Given the description of an element on the screen output the (x, y) to click on. 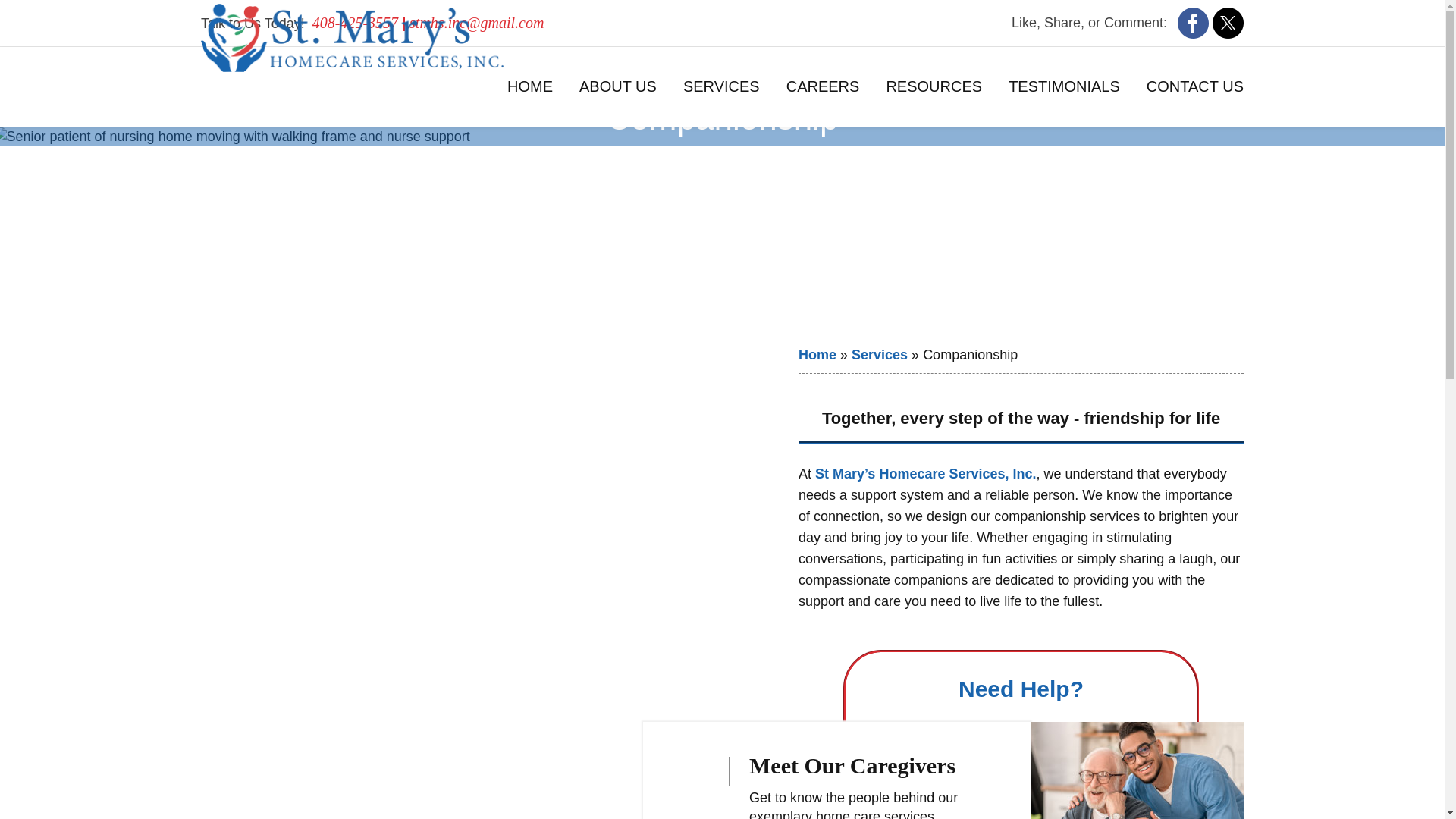
SERVICES (721, 86)
CAREERS (822, 86)
TESTIMONIALS (1064, 86)
RESOURCES (933, 86)
CONTACT US (1189, 86)
Services (879, 354)
Home (816, 354)
ABOUT US (617, 86)
HOME (535, 86)
Contact us (903, 771)
